Given the description of an element on the screen output the (x, y) to click on. 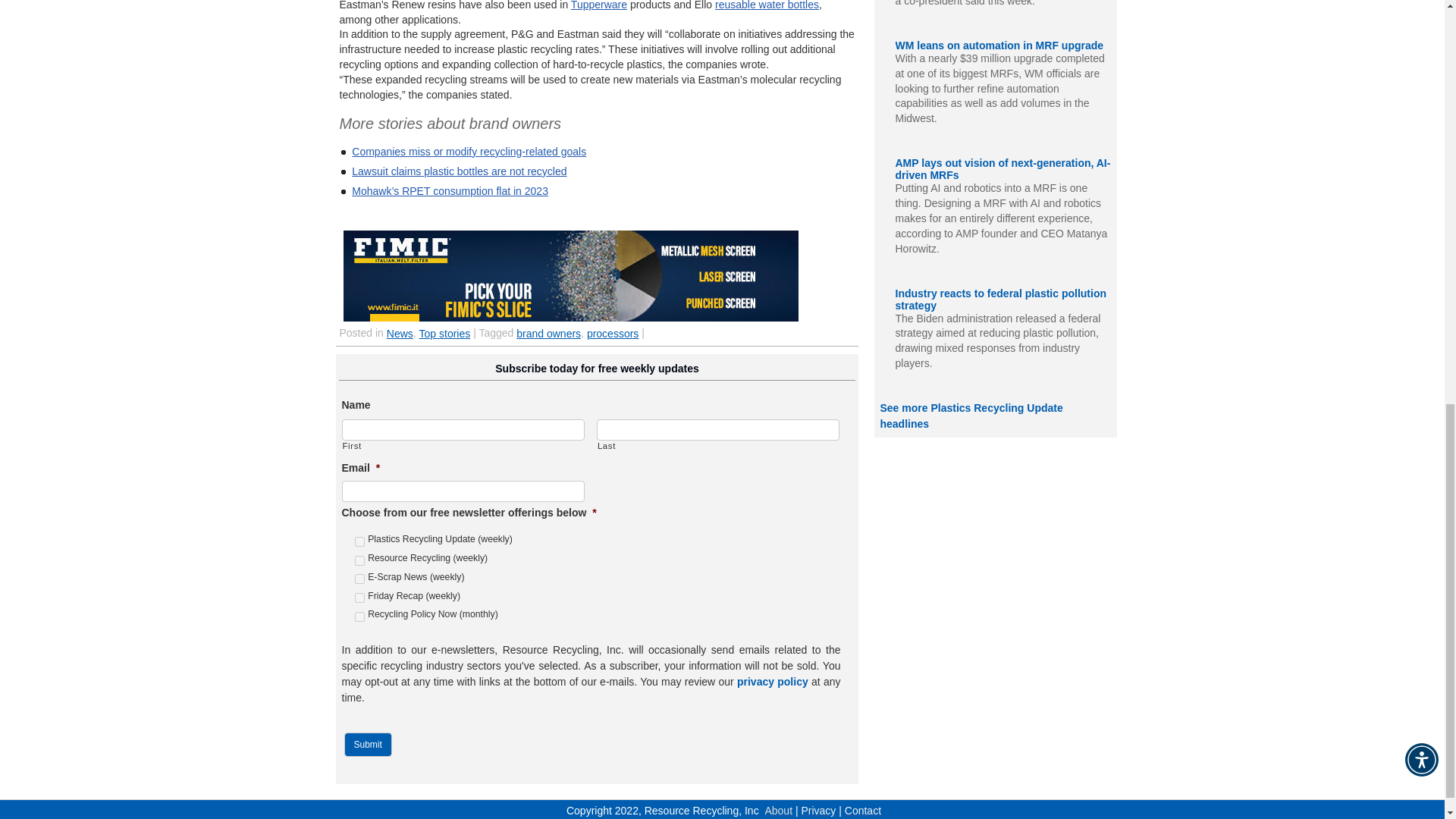
Submit (367, 744)
